Given the description of an element on the screen output the (x, y) to click on. 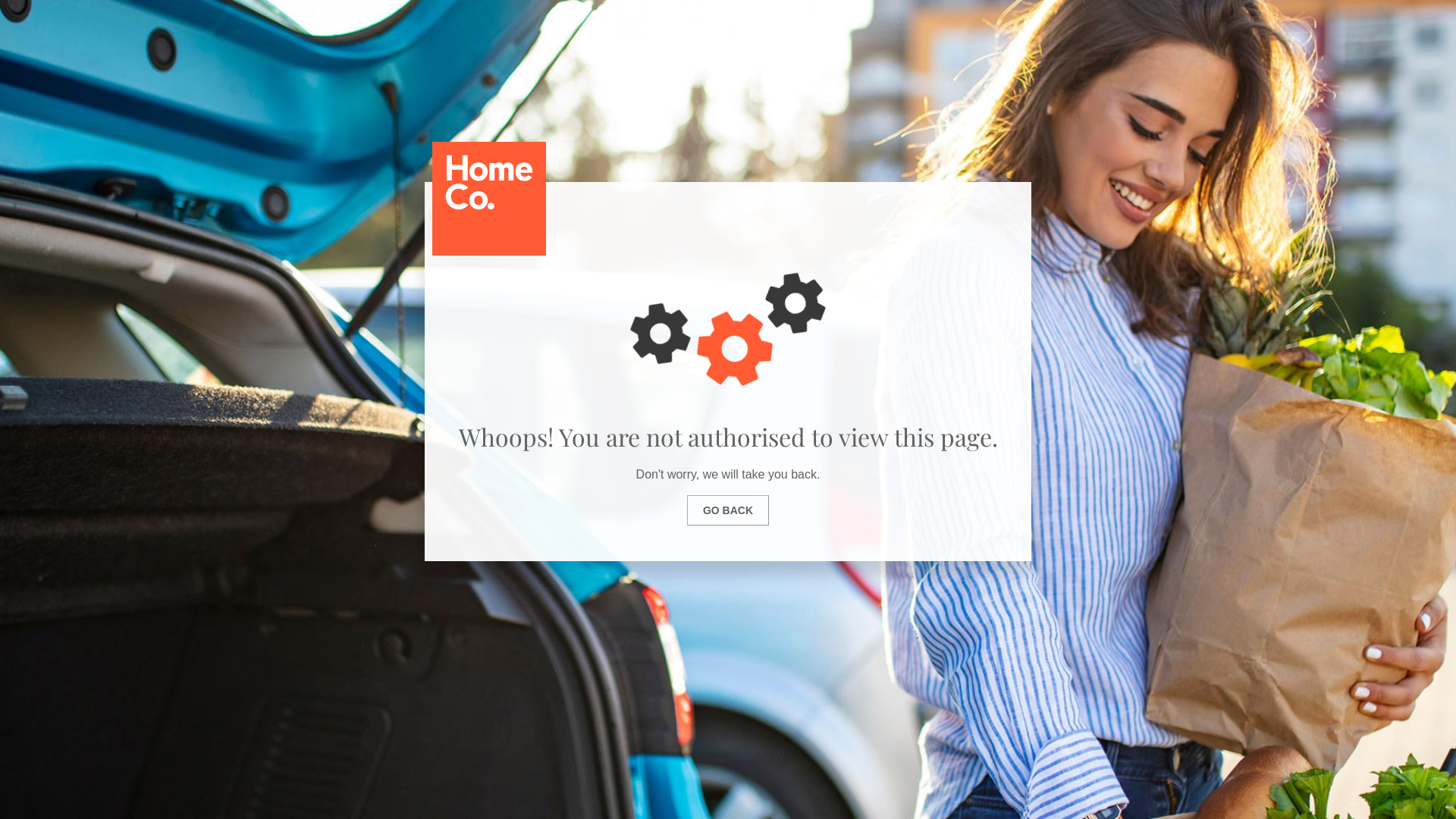
GO BACK Element type: text (727, 510)
